Given the description of an element on the screen output the (x, y) to click on. 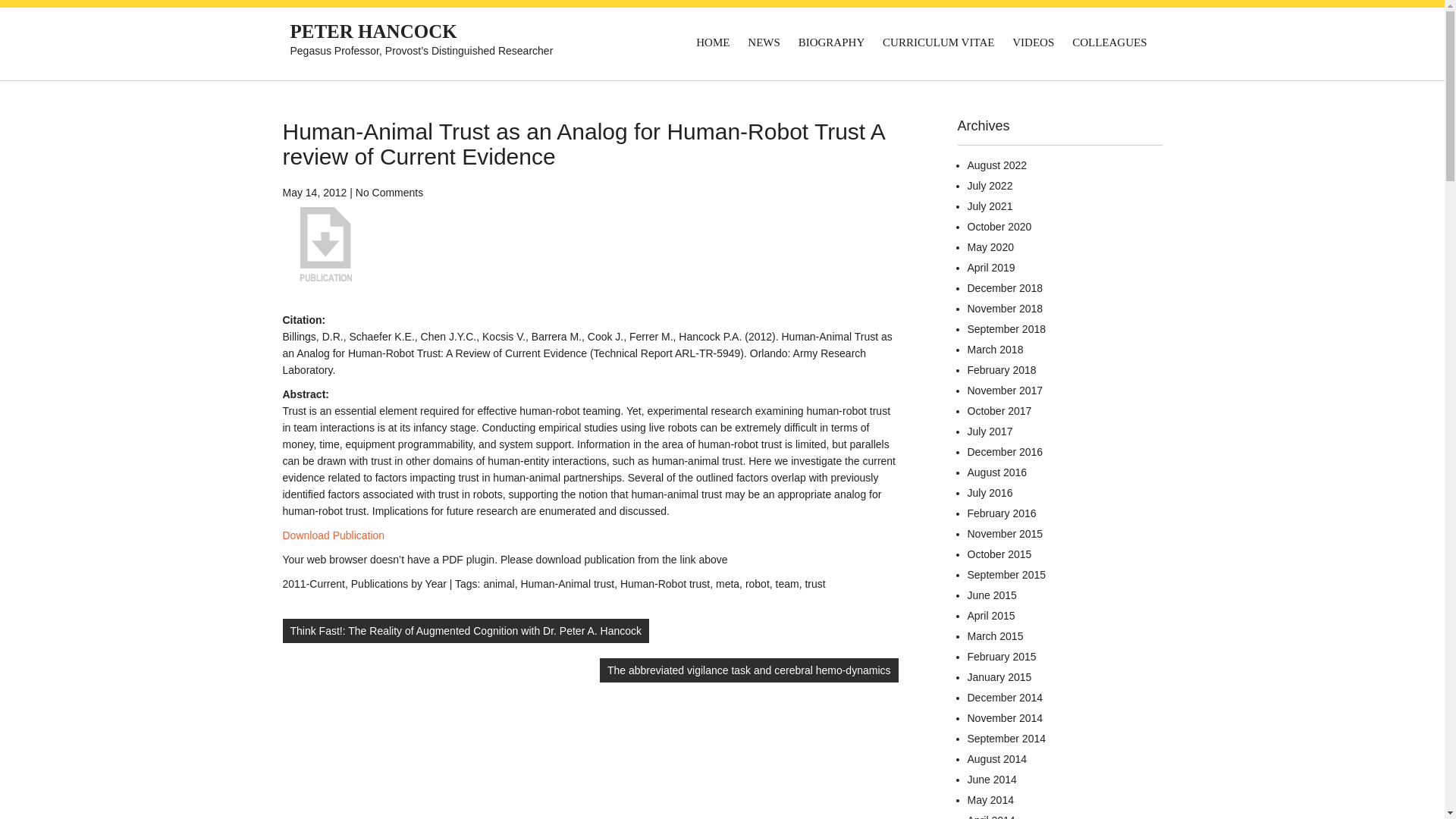
COLLEAGUES (1109, 42)
meta (727, 583)
animal (498, 583)
Publications by Year (398, 583)
NEWS (763, 42)
No Comments (389, 192)
BIOGRAPHY (831, 42)
CURRICULUM VITAE (938, 42)
Human-Robot trust (665, 583)
Download Publication (333, 535)
August 2022 (997, 164)
robot (757, 583)
VIDEOS (1032, 42)
HOME (712, 42)
team (787, 583)
